Given the description of an element on the screen output the (x, y) to click on. 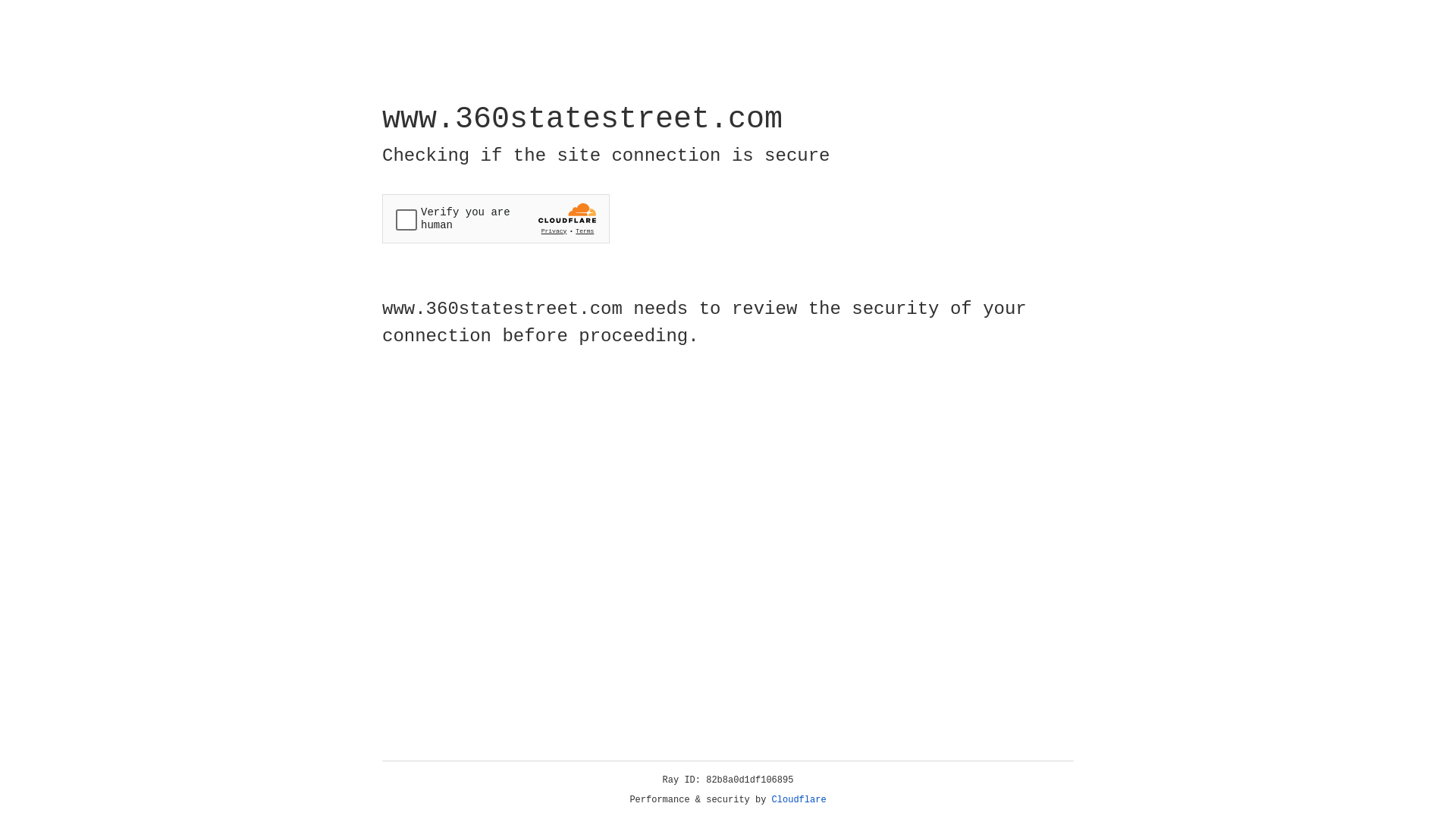
Cloudflare Element type: text (798, 799)
Widget containing a Cloudflare security challenge Element type: hover (495, 218)
